Given the description of an element on the screen output the (x, y) to click on. 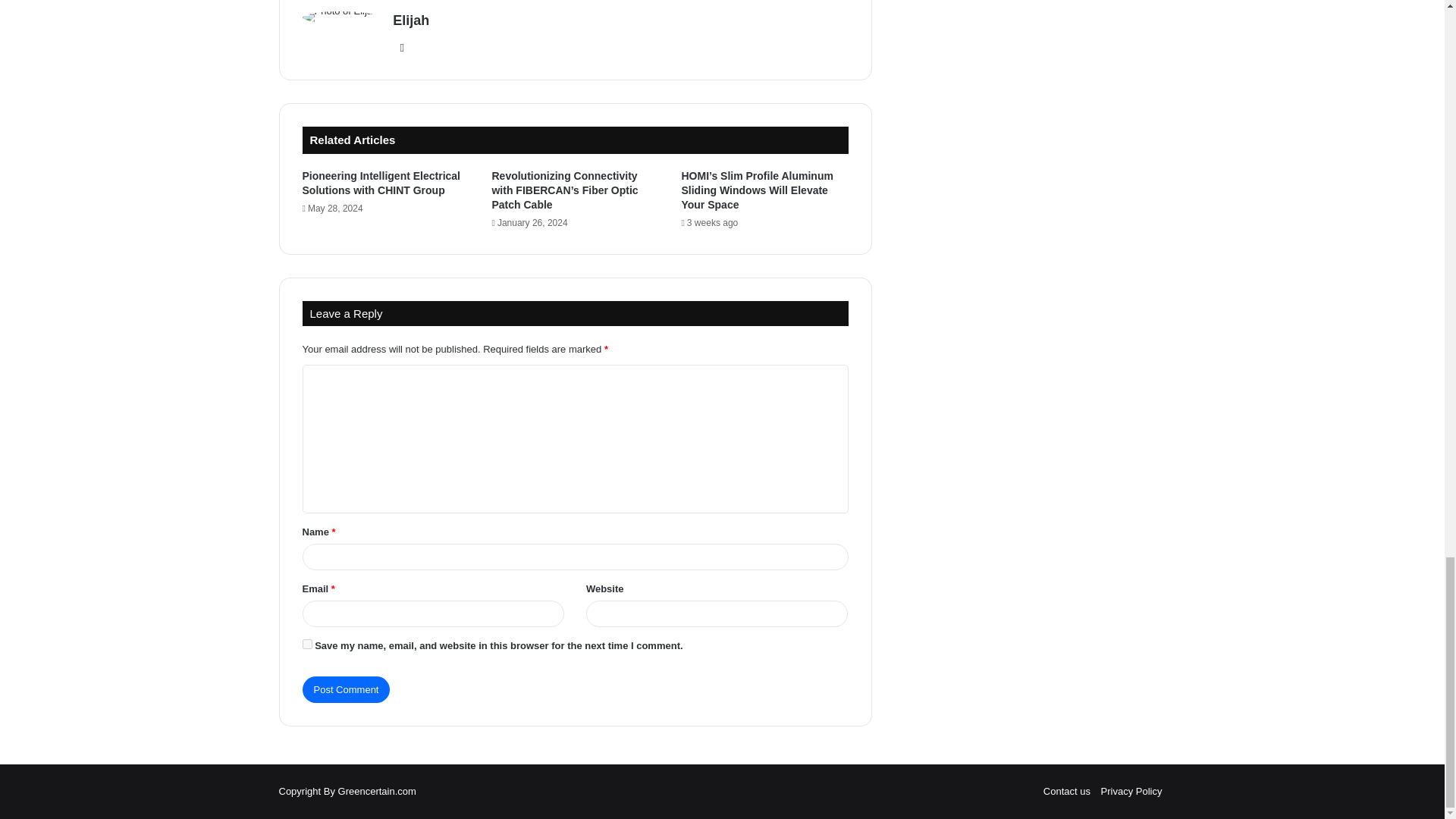
Post Comment (345, 689)
Elijah (411, 20)
Pioneering Intelligent Electrical Solutions with CHINT Group (380, 182)
yes (306, 644)
Post Comment (345, 689)
Website (401, 47)
